Given the description of an element on the screen output the (x, y) to click on. 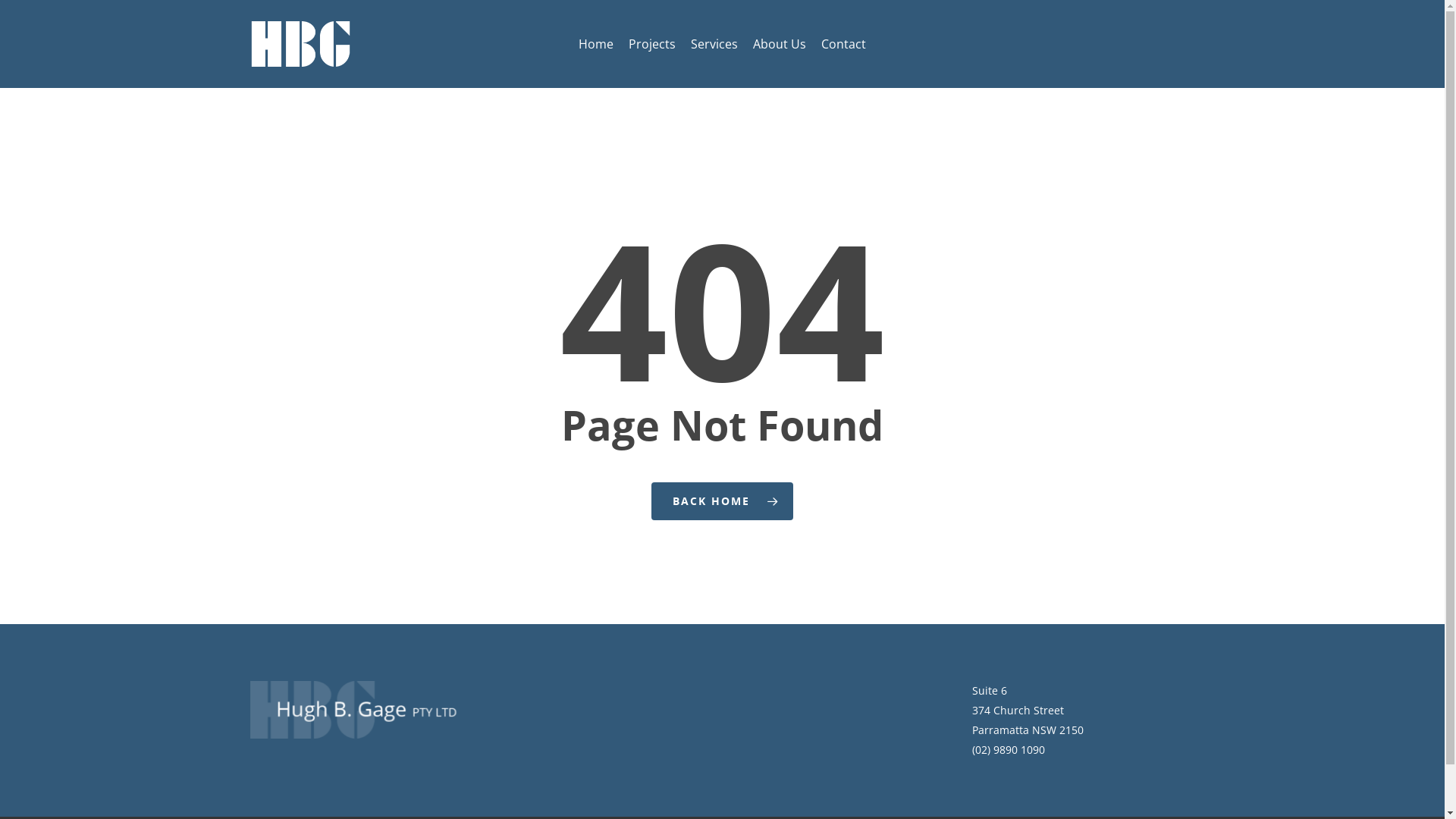
About Us Element type: text (779, 43)
BACK HOME Element type: text (722, 501)
Projects Element type: text (651, 43)
Home Element type: text (595, 43)
Services Element type: text (713, 43)
Contact Element type: text (843, 43)
(02) 9890 1090 Element type: text (1008, 749)
